Given the description of an element on the screen output the (x, y) to click on. 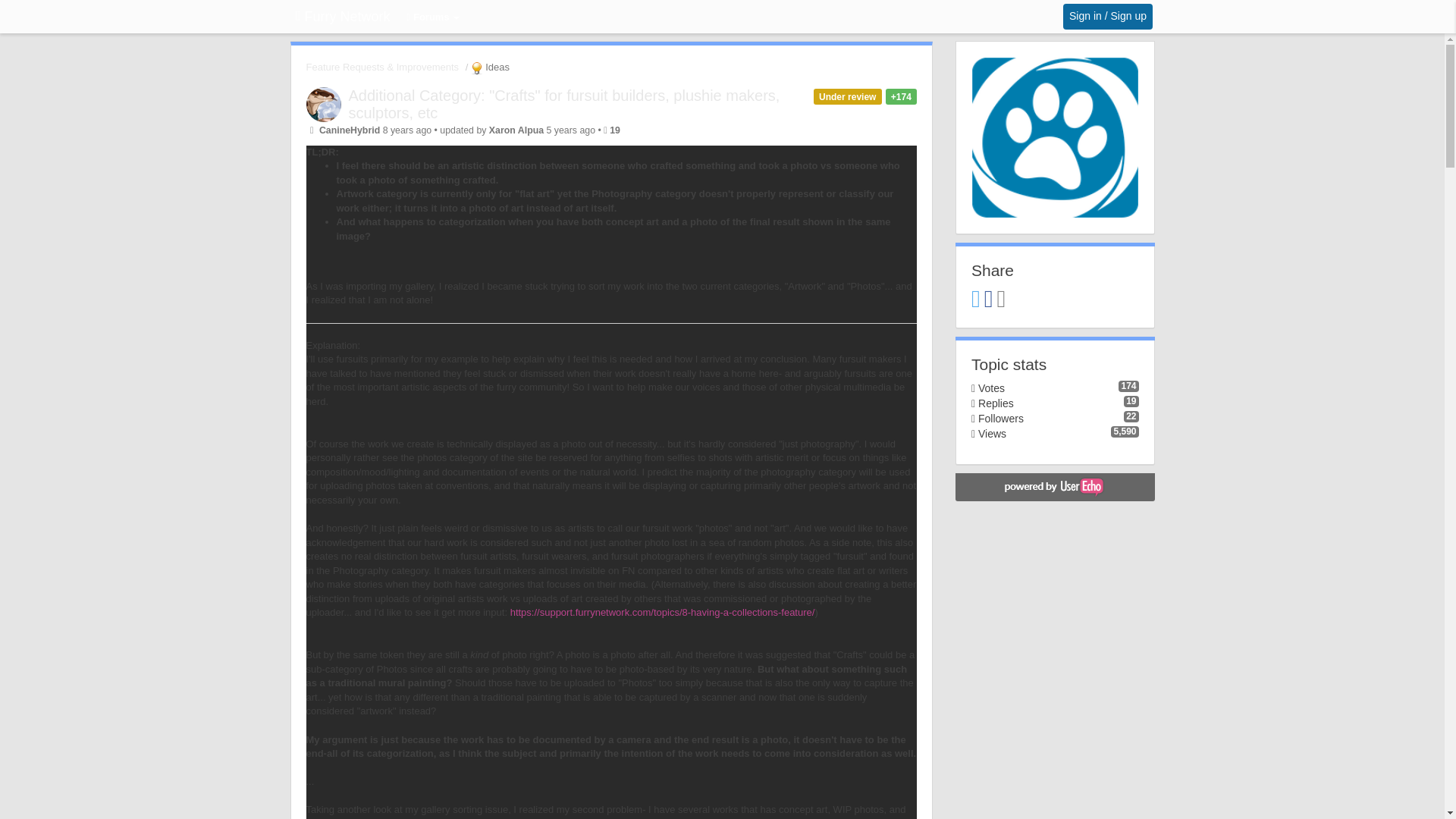
CanineHybrid (349, 130)
Furry Network (342, 16)
19 (615, 130)
Ideas (488, 66)
Forums (433, 17)
Xaron Alpua (516, 130)
